Given the description of an element on the screen output the (x, y) to click on. 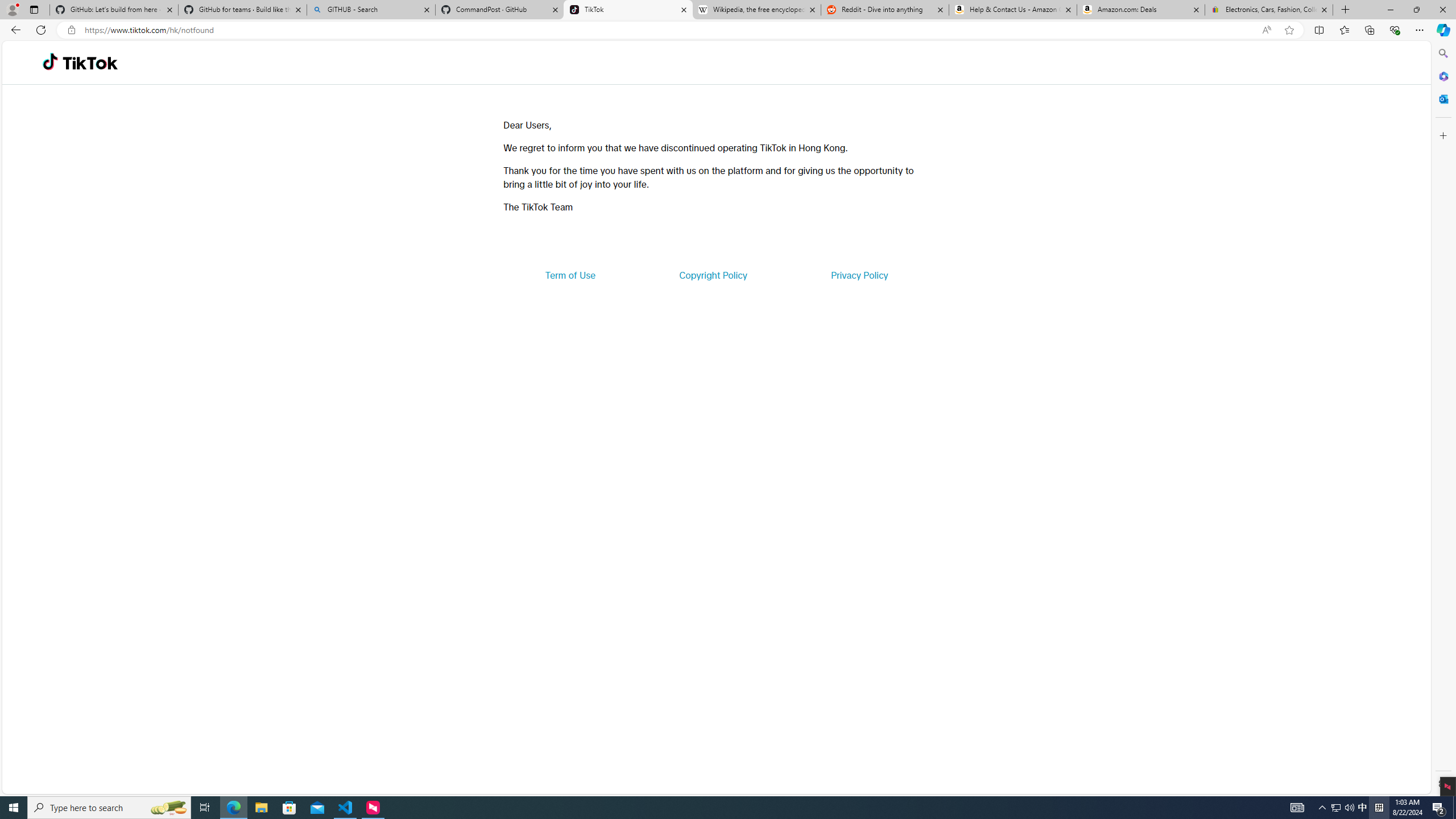
GITHUB - Search (370, 9)
Term of Use (569, 274)
